Given the description of an element on the screen output the (x, y) to click on. 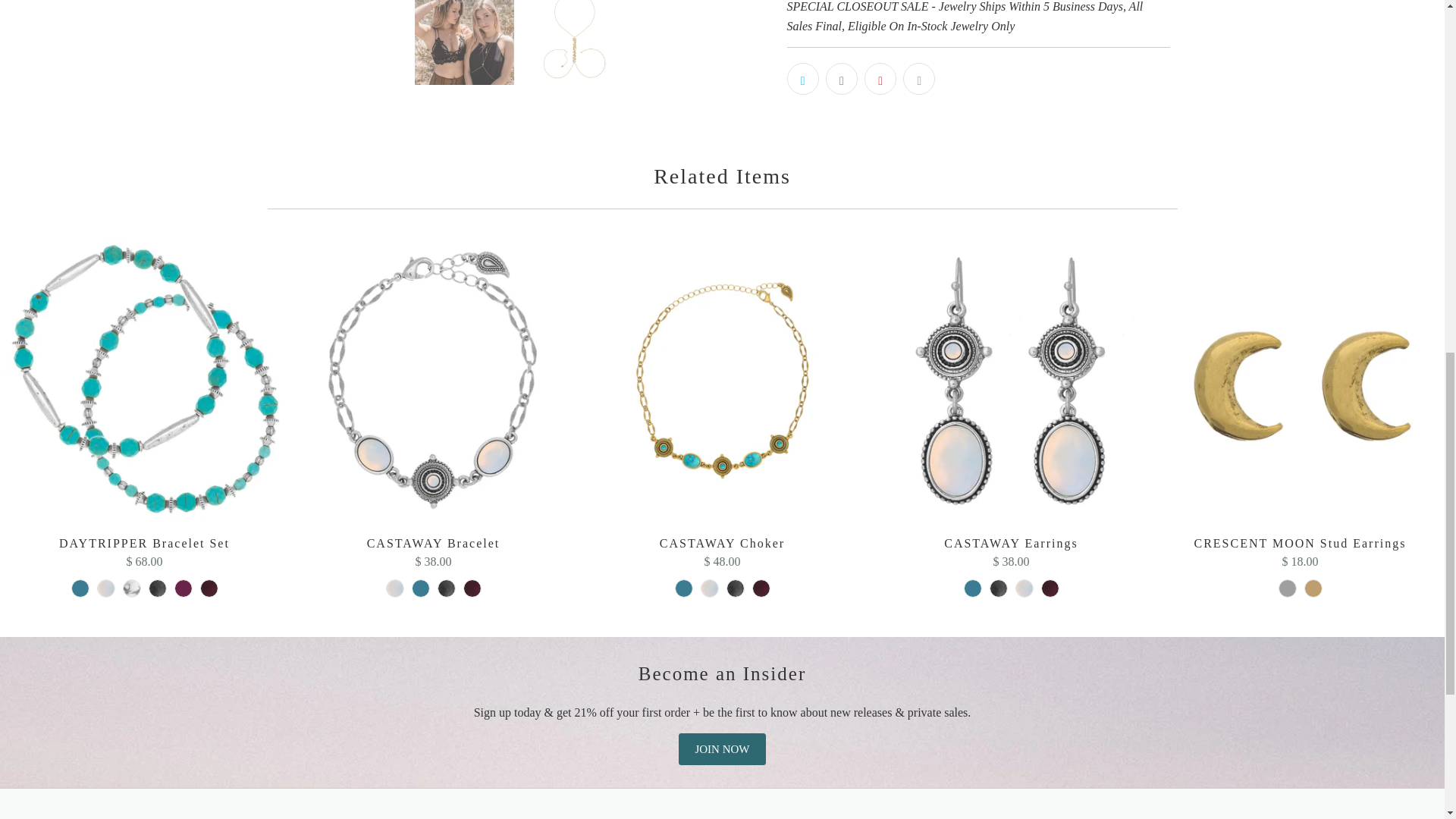
Share this on Pinterest (880, 79)
Share this on Facebook (841, 79)
Share this on Twitter (802, 79)
